Given the description of an element on the screen output the (x, y) to click on. 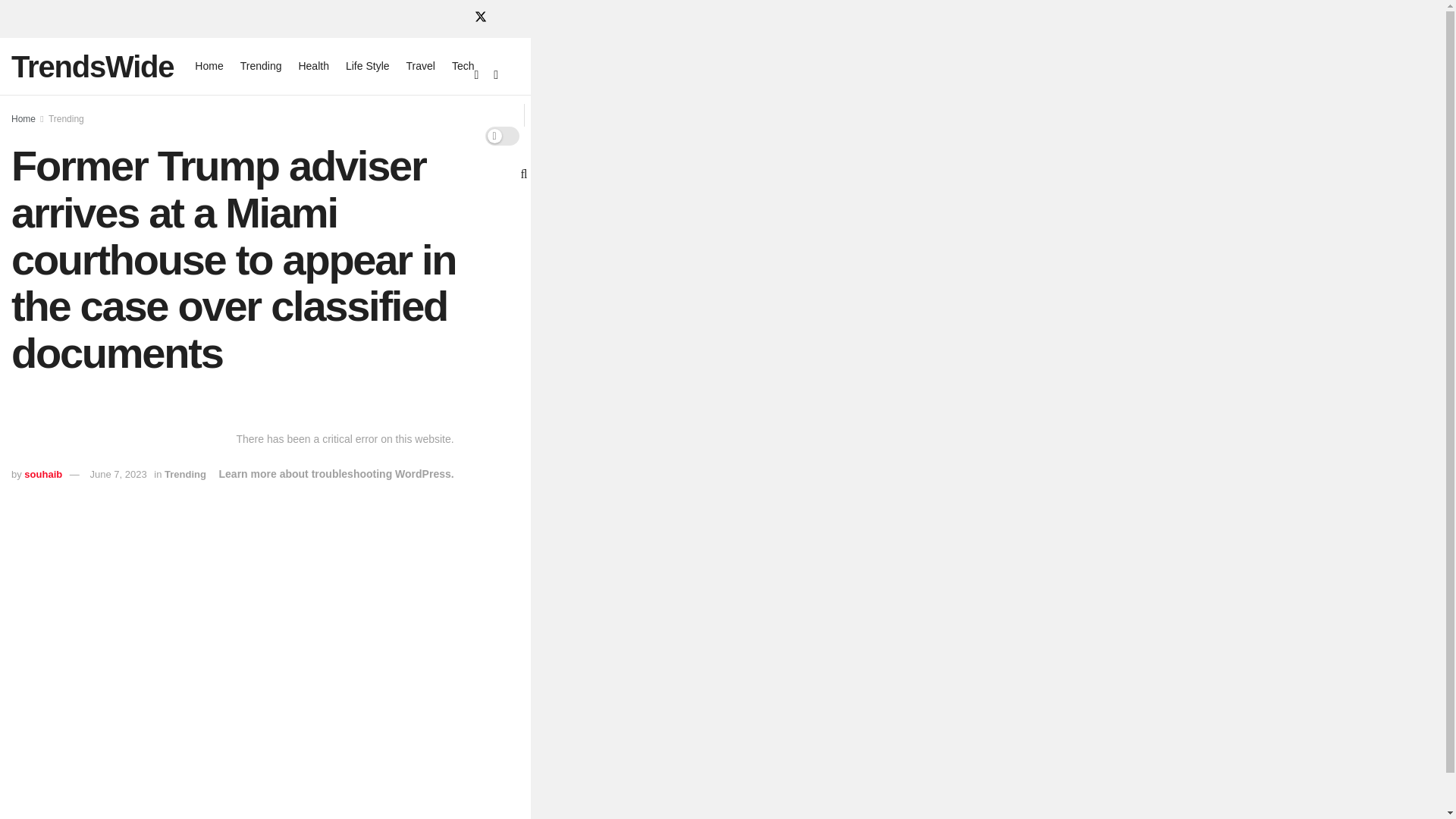
Trending (185, 473)
June 7, 2023 (117, 473)
Trending (66, 118)
souhaib (43, 473)
Home (208, 65)
Home (22, 118)
Tech (462, 65)
TrendsWide (92, 66)
Learn more about troubleshooting WordPress. (336, 473)
Health (313, 65)
